Given the description of an element on the screen output the (x, y) to click on. 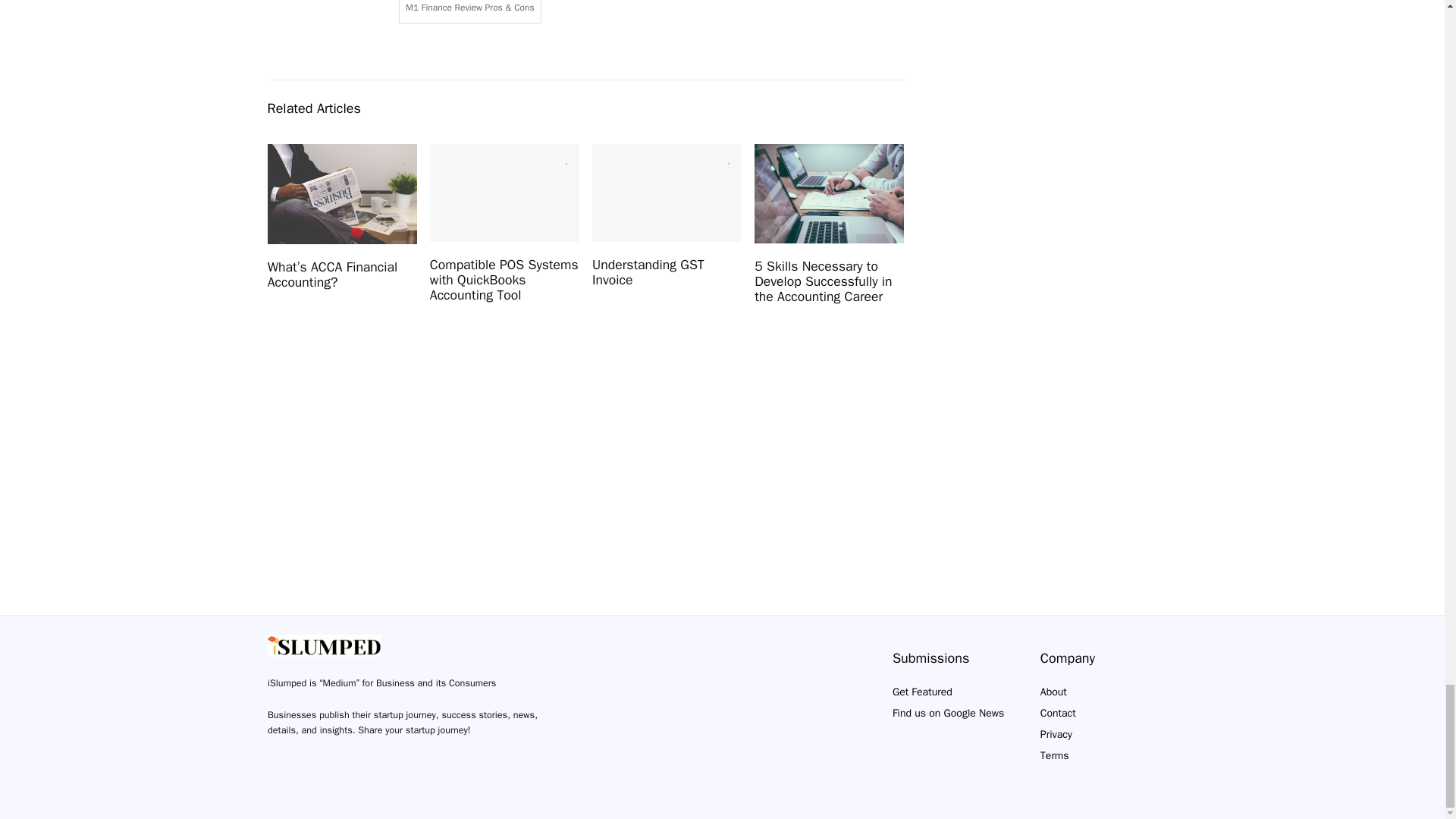
Understanding GST Invoice (648, 272)
Compatible POS Systems with QuickBooks Accounting Tool (503, 279)
